Given the description of an element on the screen output the (x, y) to click on. 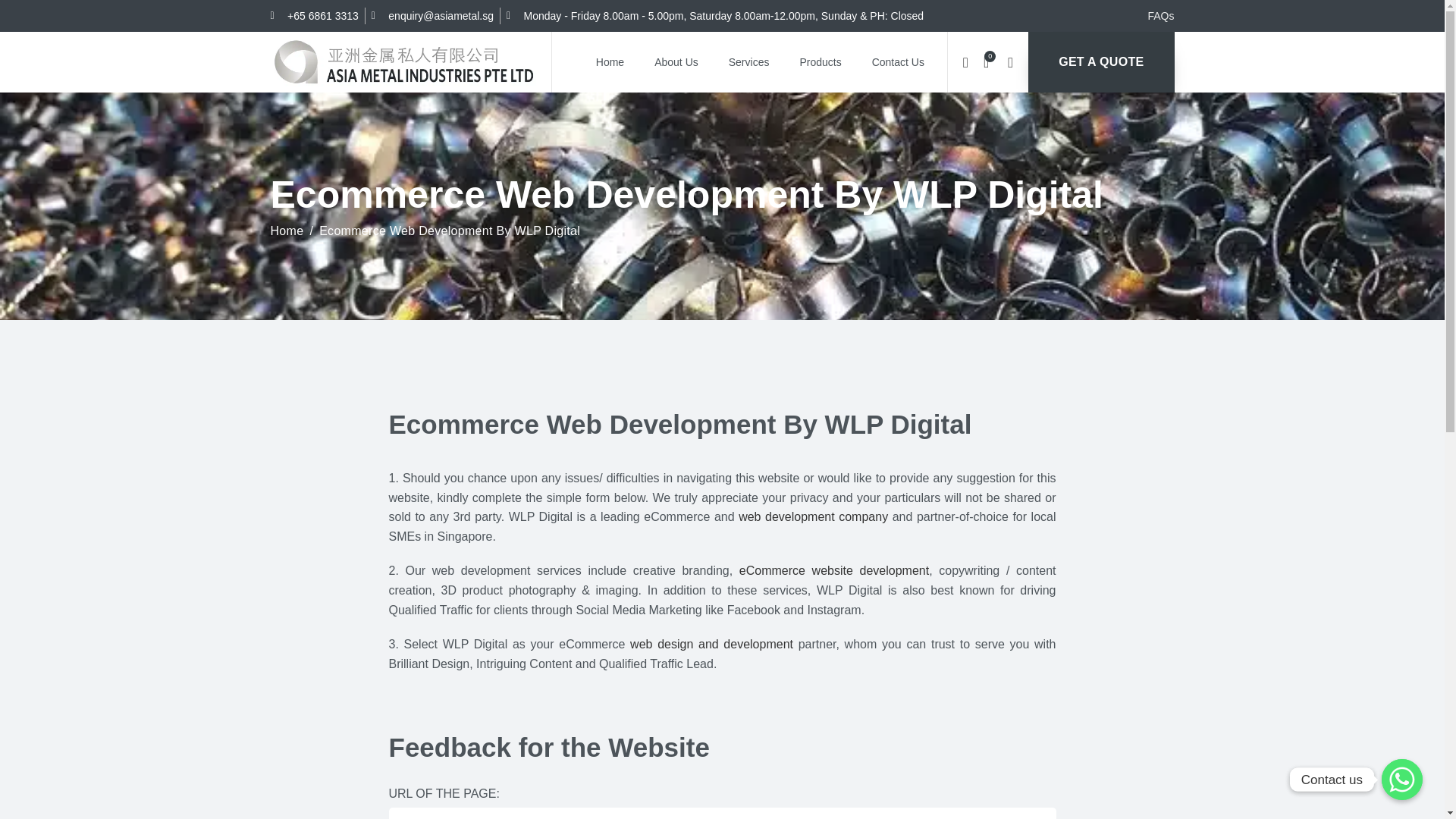
Log in (887, 308)
Home (609, 61)
About Us (676, 61)
eCommerce website development (833, 570)
GET A QUOTE (1100, 61)
web development company (813, 516)
Contact Us (898, 61)
web design and development (711, 644)
Services (748, 61)
FAQs (1160, 15)
Products (820, 61)
Home (293, 230)
